Given the description of an element on the screen output the (x, y) to click on. 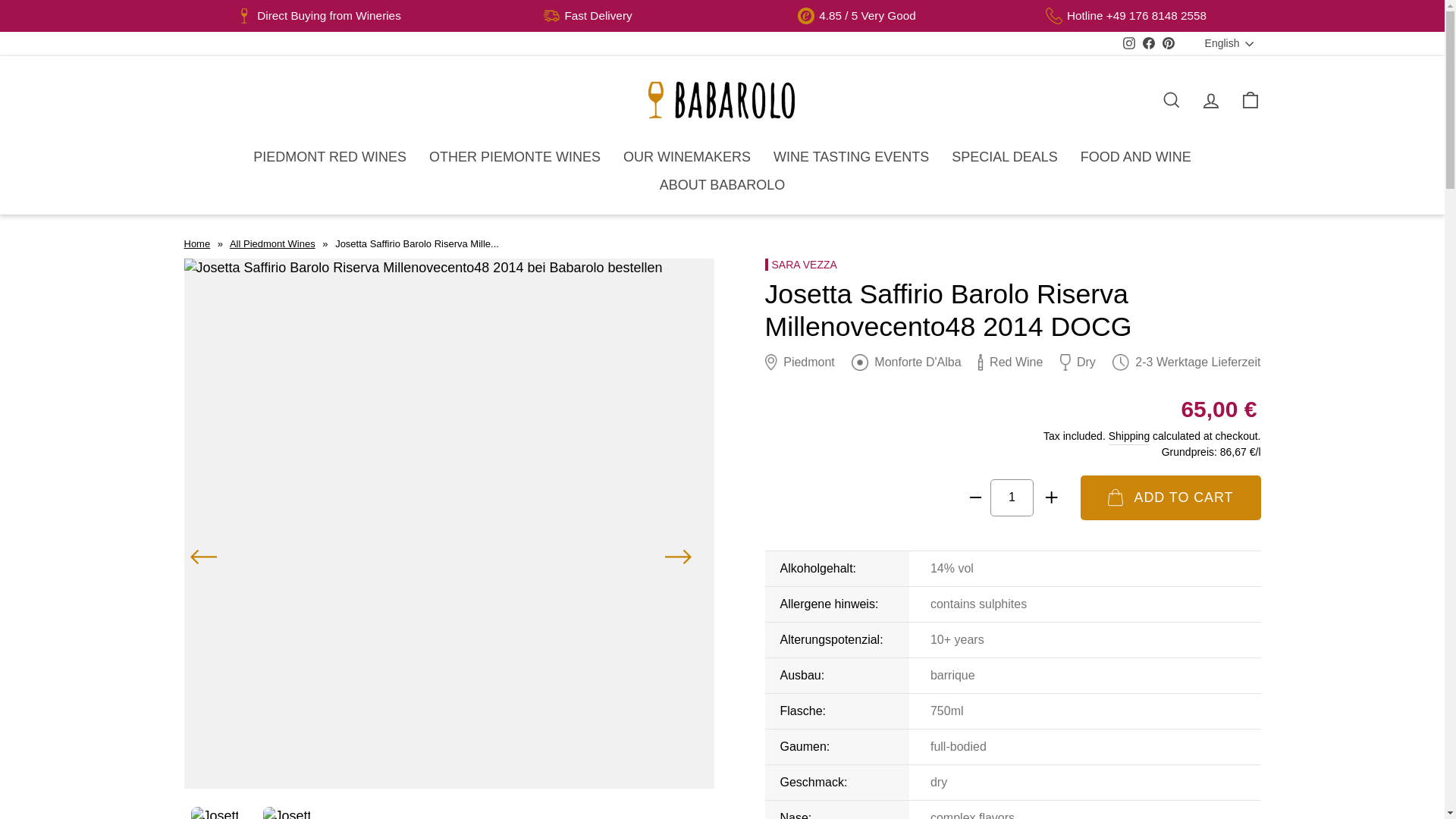
Babarolo Weinhandel GmbH on Pinterest (1167, 43)
Babarolo Weinhandel GmbH on Instagram (1128, 43)
Babarolo Weinhandel GmbH on Facebook (1148, 43)
Back to the frontpage (196, 243)
Sara Vezza (799, 264)
1 (1011, 497)
